Given the description of an element on the screen output the (x, y) to click on. 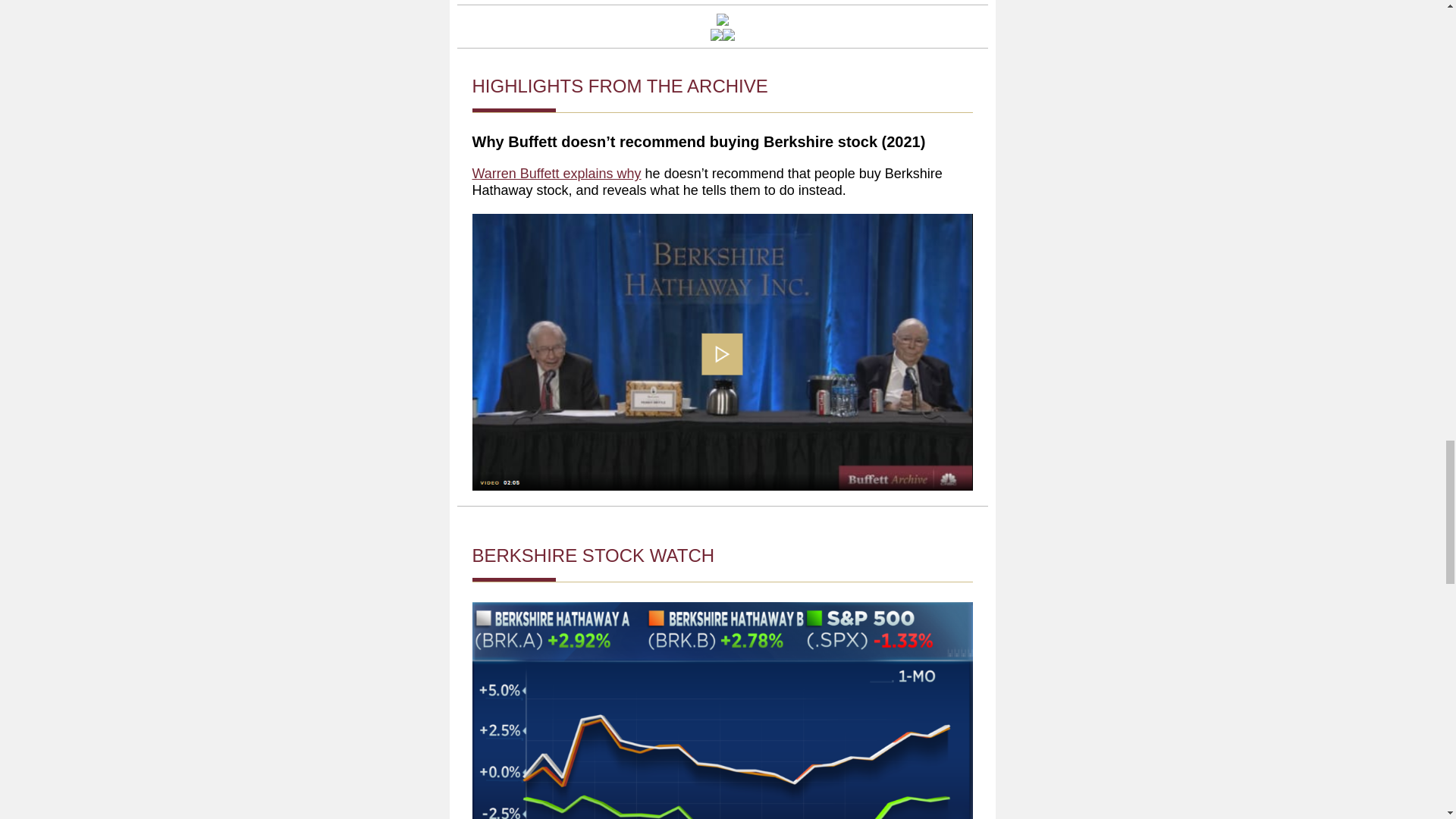
Warren Buffett explains why (555, 173)
